Given the description of an element on the screen output the (x, y) to click on. 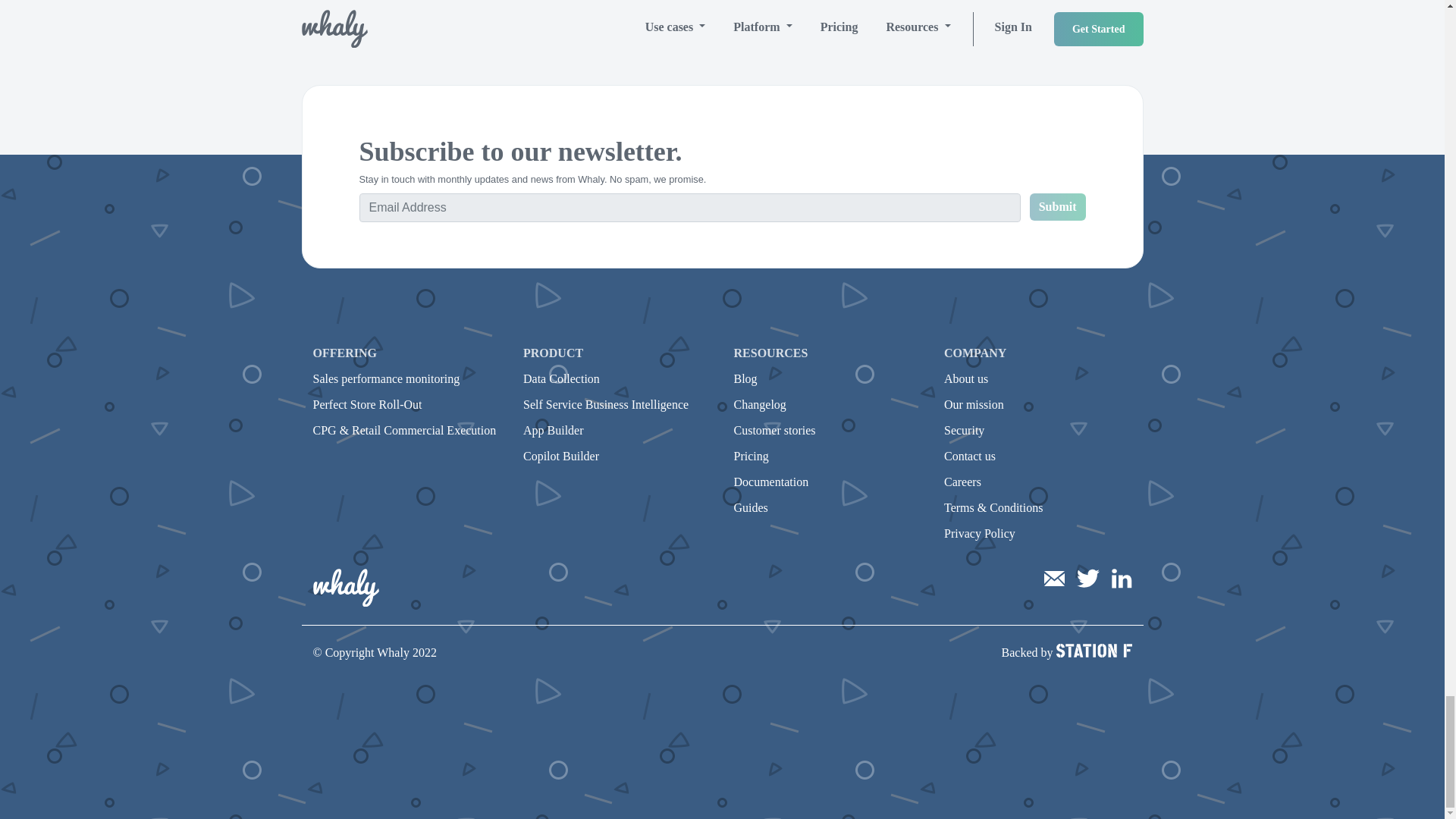
App Builder (552, 430)
Customer stories (774, 430)
Copilot Builder (560, 455)
Our mission (973, 404)
Documentation (771, 481)
Self Service Business Intelligence (605, 404)
About us (965, 378)
Guides (750, 507)
Pricing (750, 455)
Blog (745, 378)
